Given the description of an element on the screen output the (x, y) to click on. 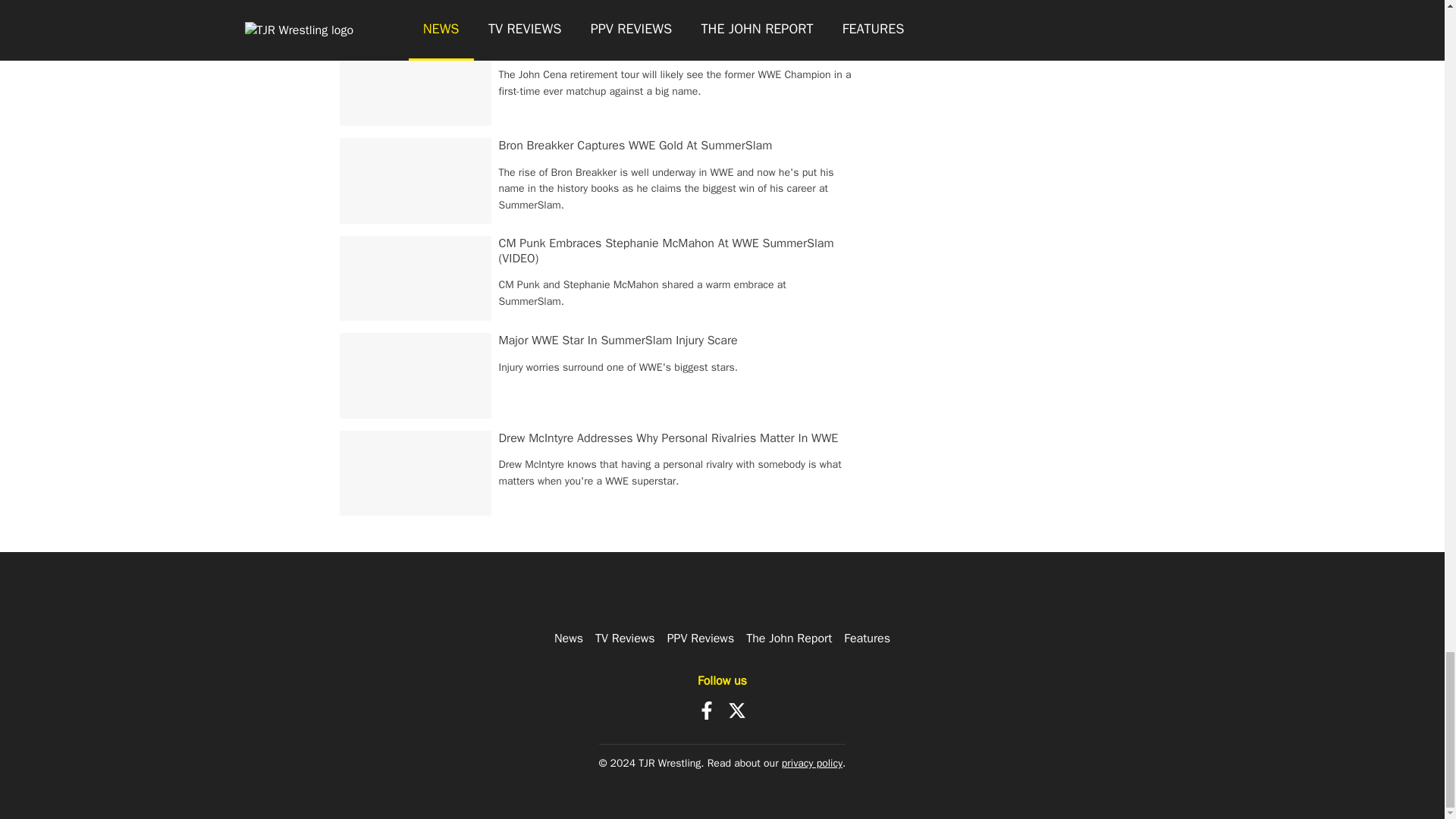
X (736, 710)
John Cena Expected To Face Top WWE Star On Retirement Tour (667, 48)
Facebook (706, 710)
Bron Breakker Captures WWE Gold At SummerSlam (636, 145)
